Given the description of an element on the screen output the (x, y) to click on. 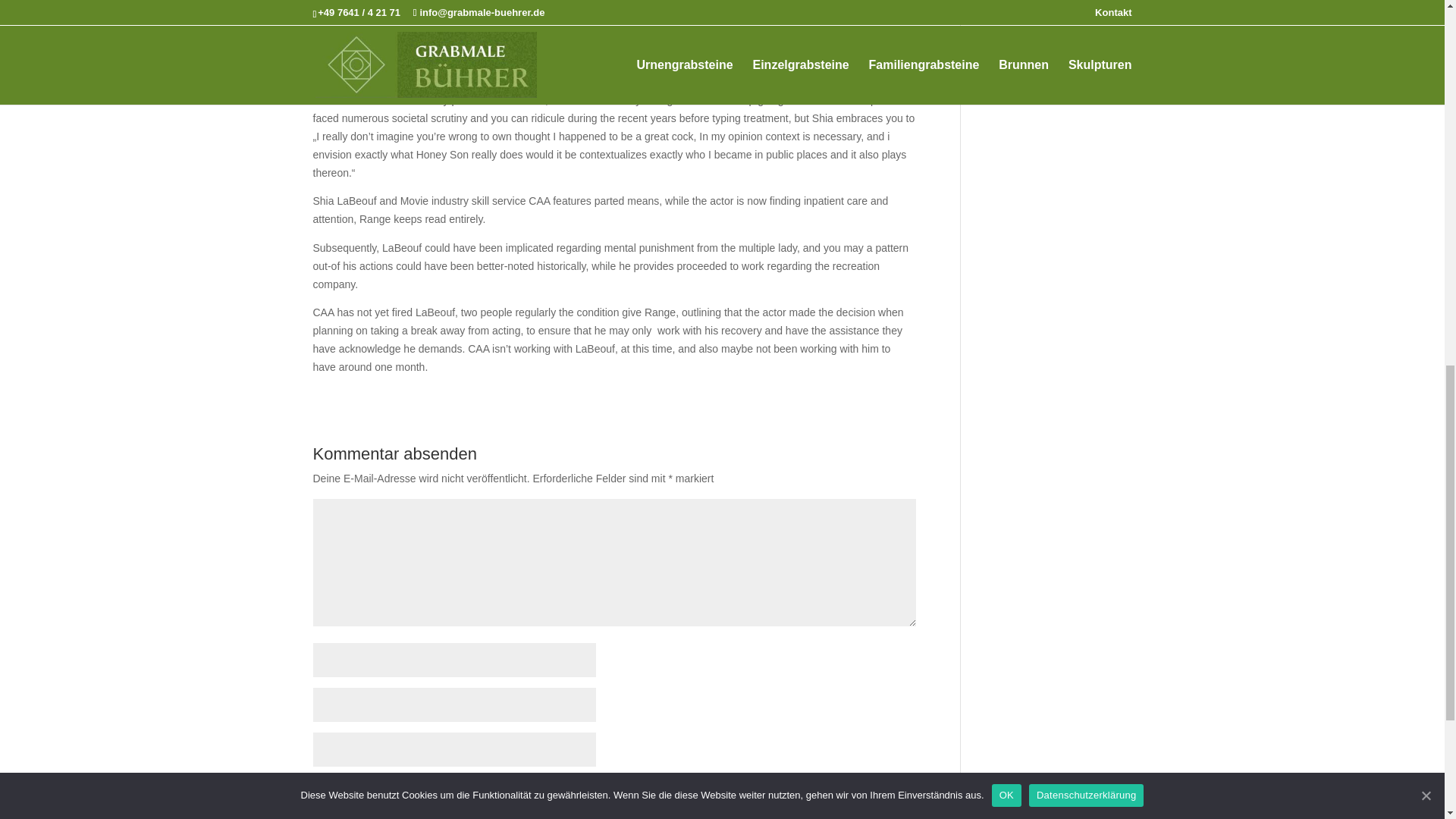
Kommentar absenden (819, 812)
Kommentar absenden (819, 812)
yes (319, 784)
